Given the description of an element on the screen output the (x, y) to click on. 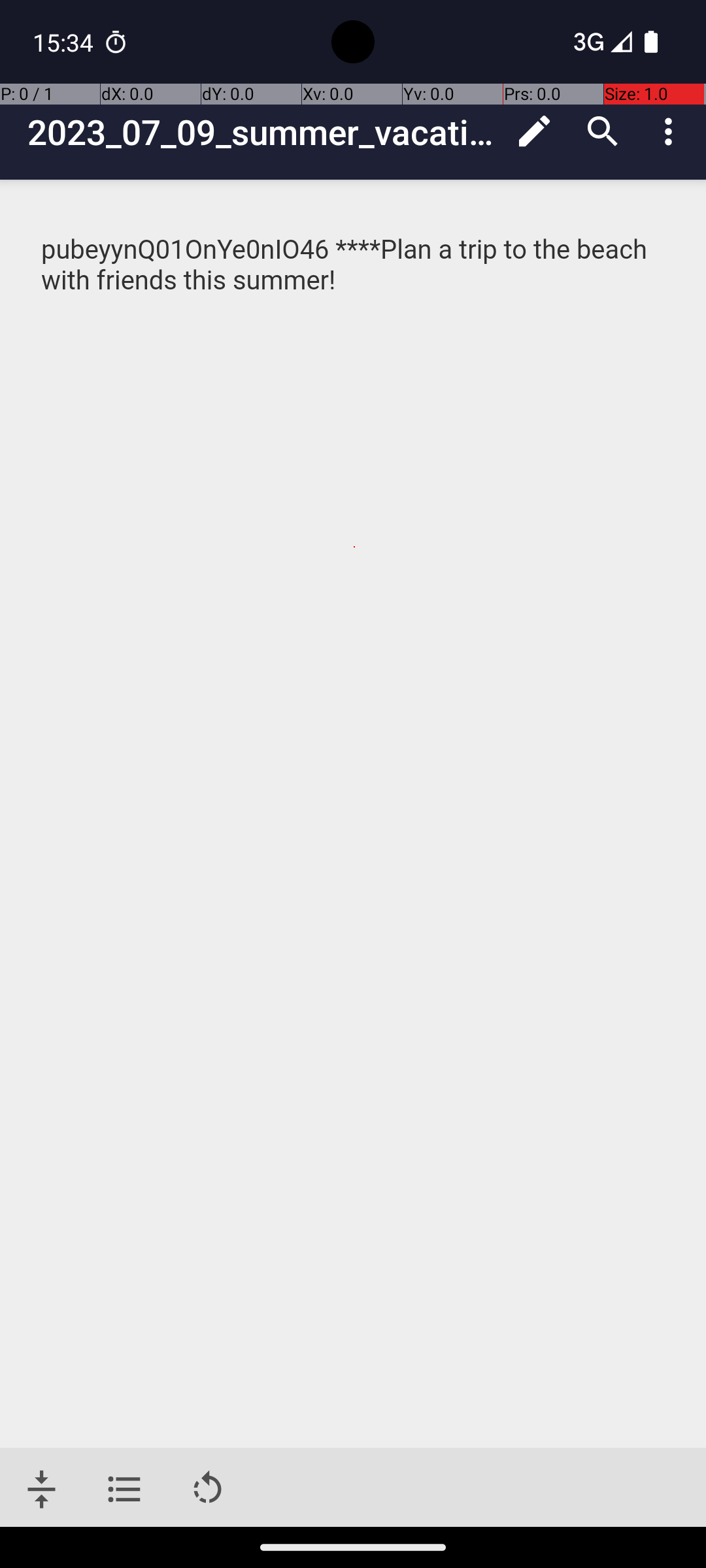
2023_07_09_summer_vacation_plans Element type: android.widget.TextView (263, 131)
pubeyynQ01OnYe0nIO46 ****Plan a trip to the beach with friends this summer! Element type: android.widget.TextView (354, 264)
